Given the description of an element on the screen output the (x, y) to click on. 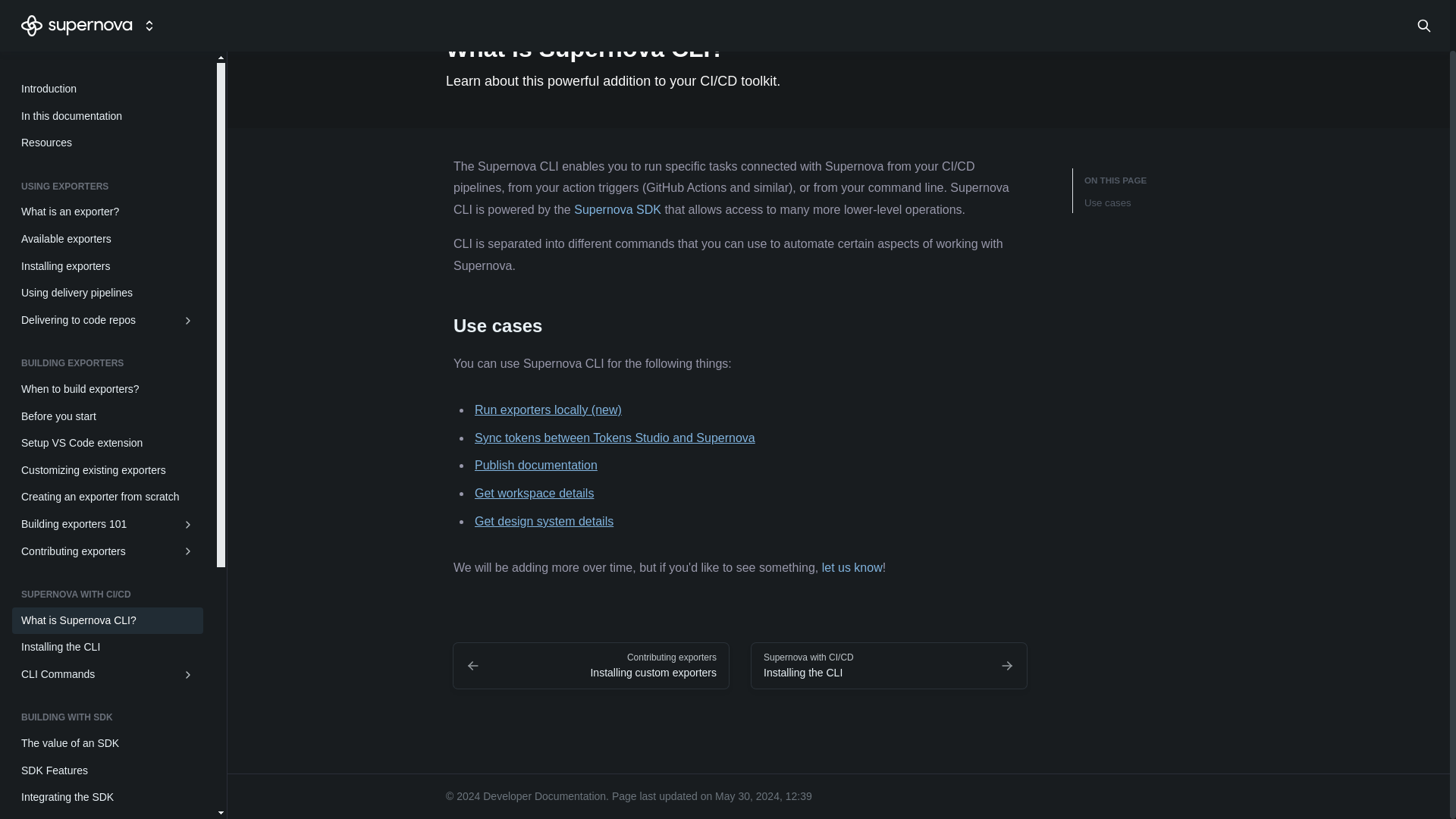
USING EXPORTERS (107, 136)
BUILDING WITH SDK (107, 667)
Resources (107, 89)
What is an exporter? (107, 157)
The value of an SDK (107, 689)
Basics of using the SDK (107, 770)
Customizing existing exporters (107, 416)
When to build exporters? (107, 335)
Delivering to code repos (107, 266)
Integrating the SDK (107, 743)
